Given the description of an element on the screen output the (x, y) to click on. 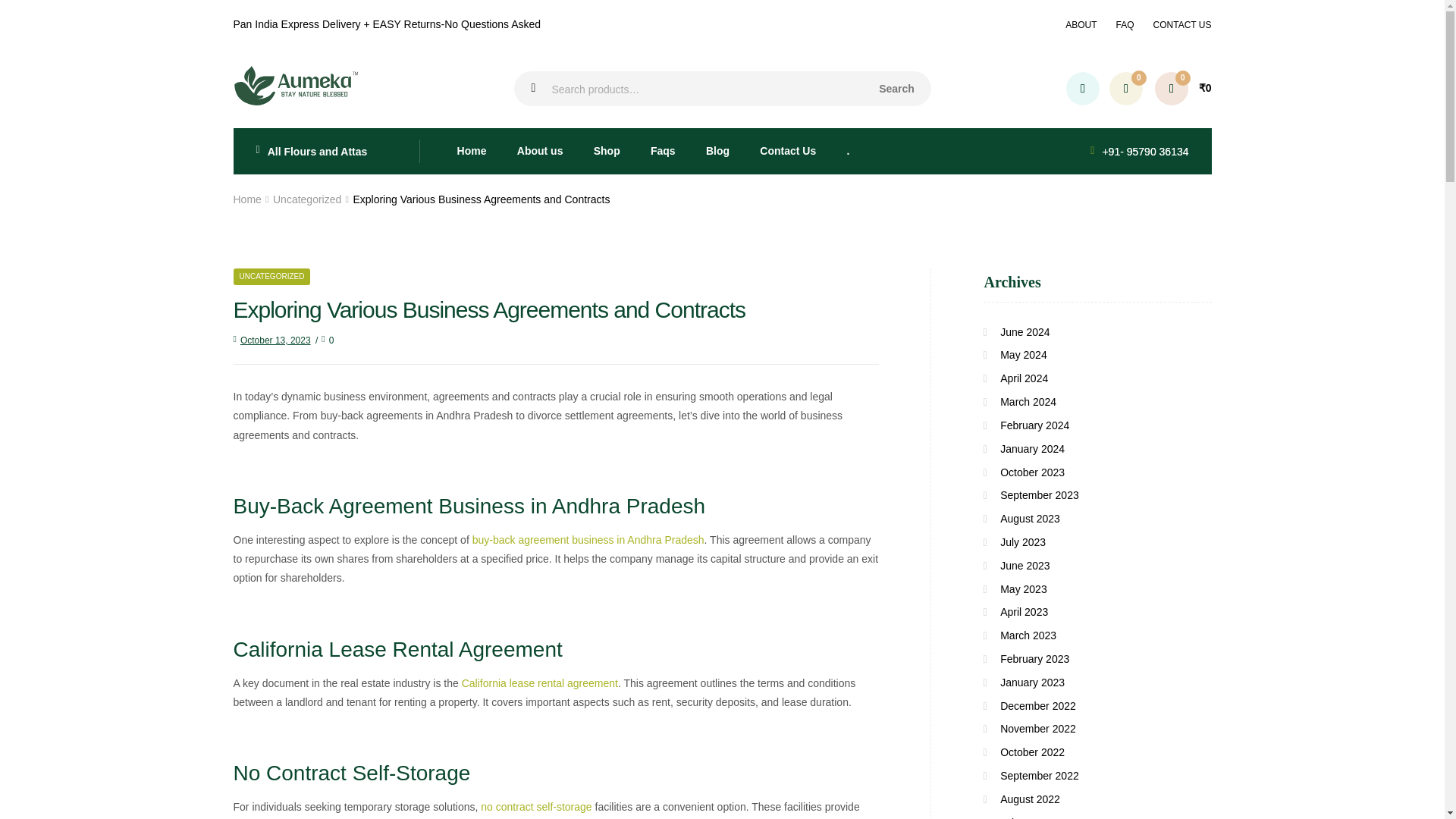
Search (897, 88)
Shop (606, 151)
Home (470, 151)
Contact Us (787, 151)
About us (539, 151)
Uncategorized (306, 199)
Faqs (662, 151)
Home (247, 199)
Blog (717, 151)
